Given the description of an element on the screen output the (x, y) to click on. 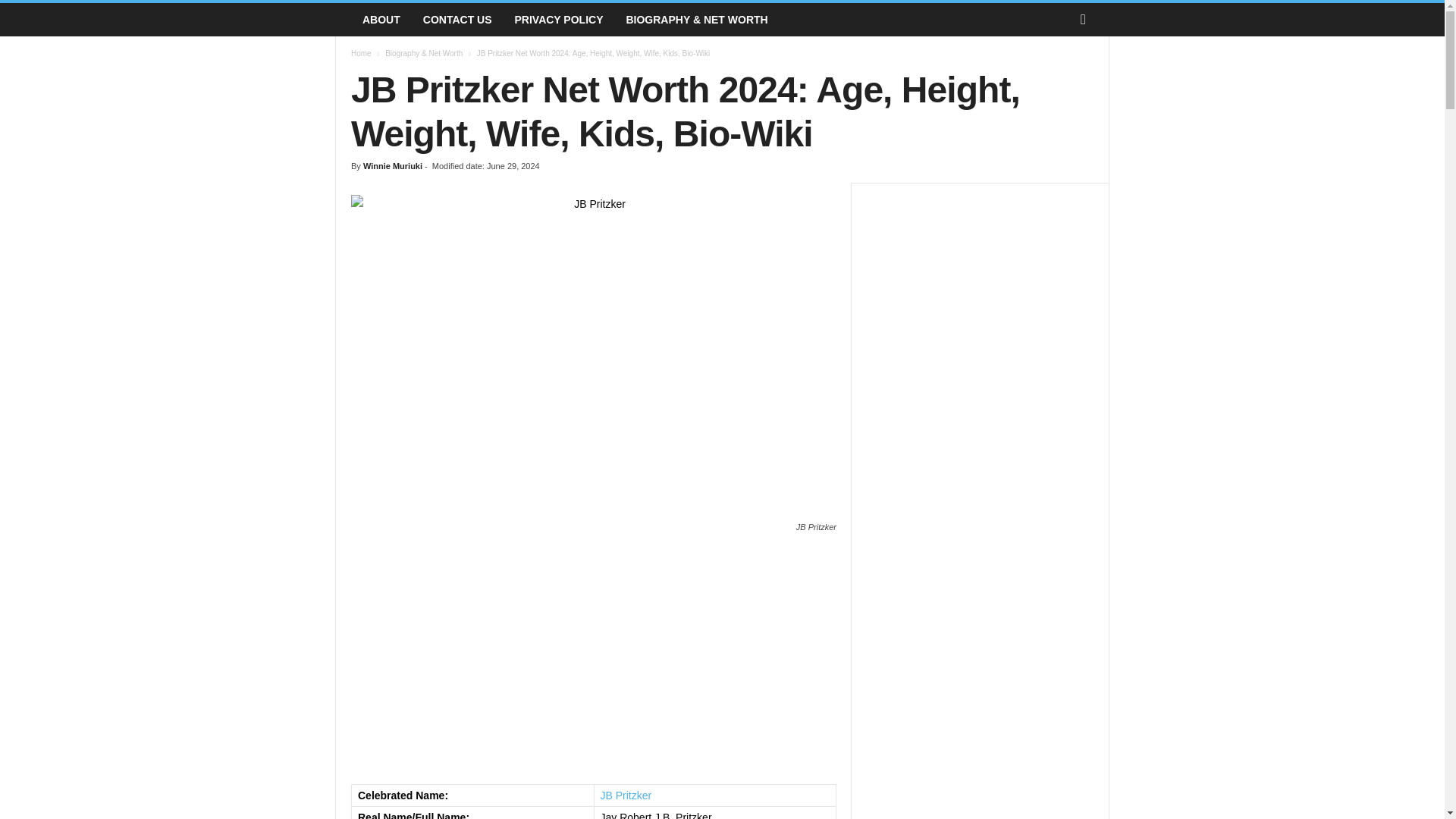
CONTACT US (457, 19)
PRIVACY POLICY (558, 19)
Winnie Muriuki (392, 165)
Wealthy Persons (342, 19)
Home (360, 53)
JB Pritzker (625, 795)
ABOUT (381, 19)
